Given the description of an element on the screen output the (x, y) to click on. 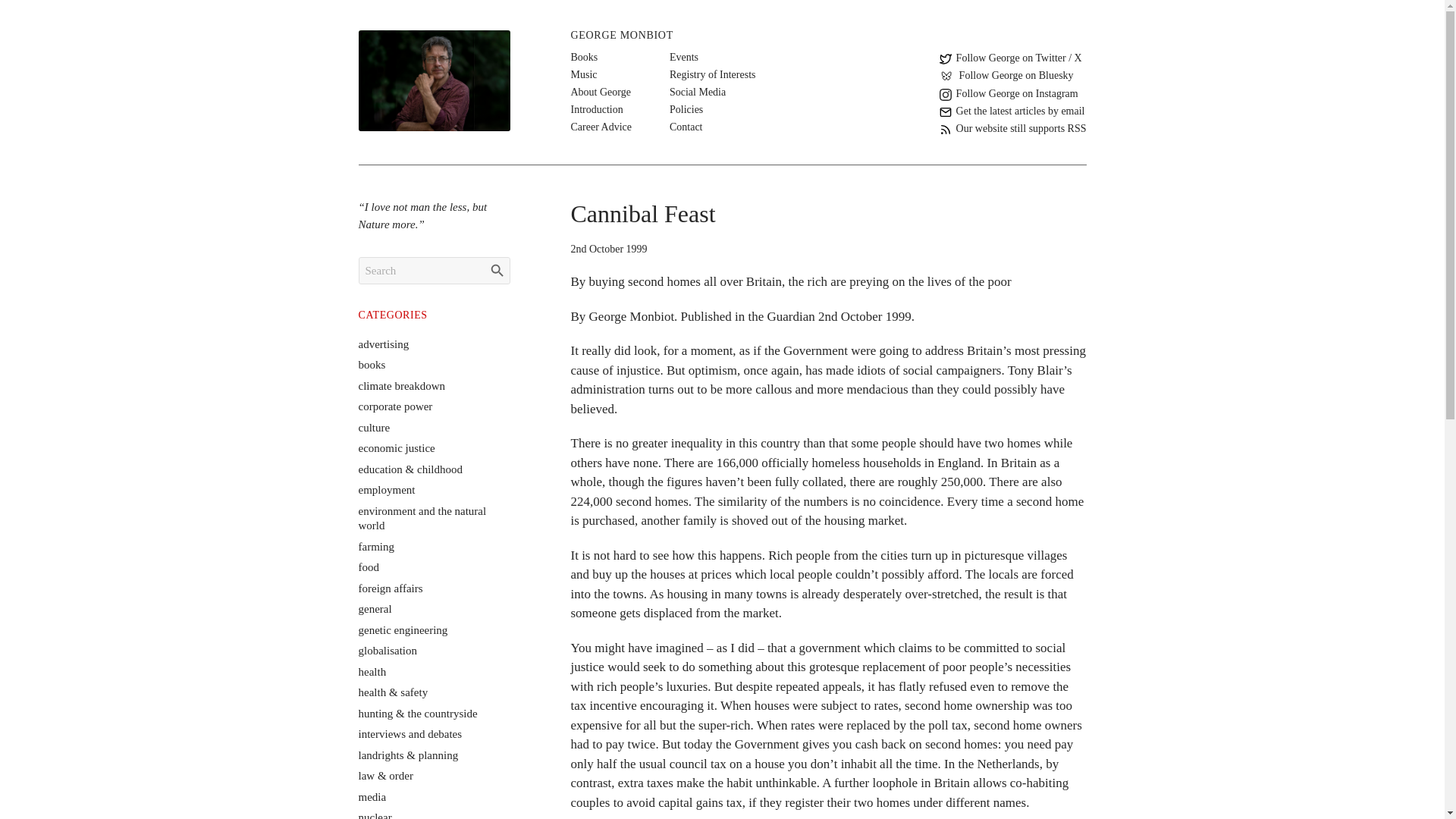
environment and the natural world (422, 518)
Policies (686, 109)
corporate power (395, 406)
economic justice (395, 448)
globalisation (387, 650)
Music (583, 74)
Our website still supports RSS (1012, 128)
About George (600, 91)
advertising (383, 344)
Registry of Interests (712, 74)
